Given the description of an element on the screen output the (x, y) to click on. 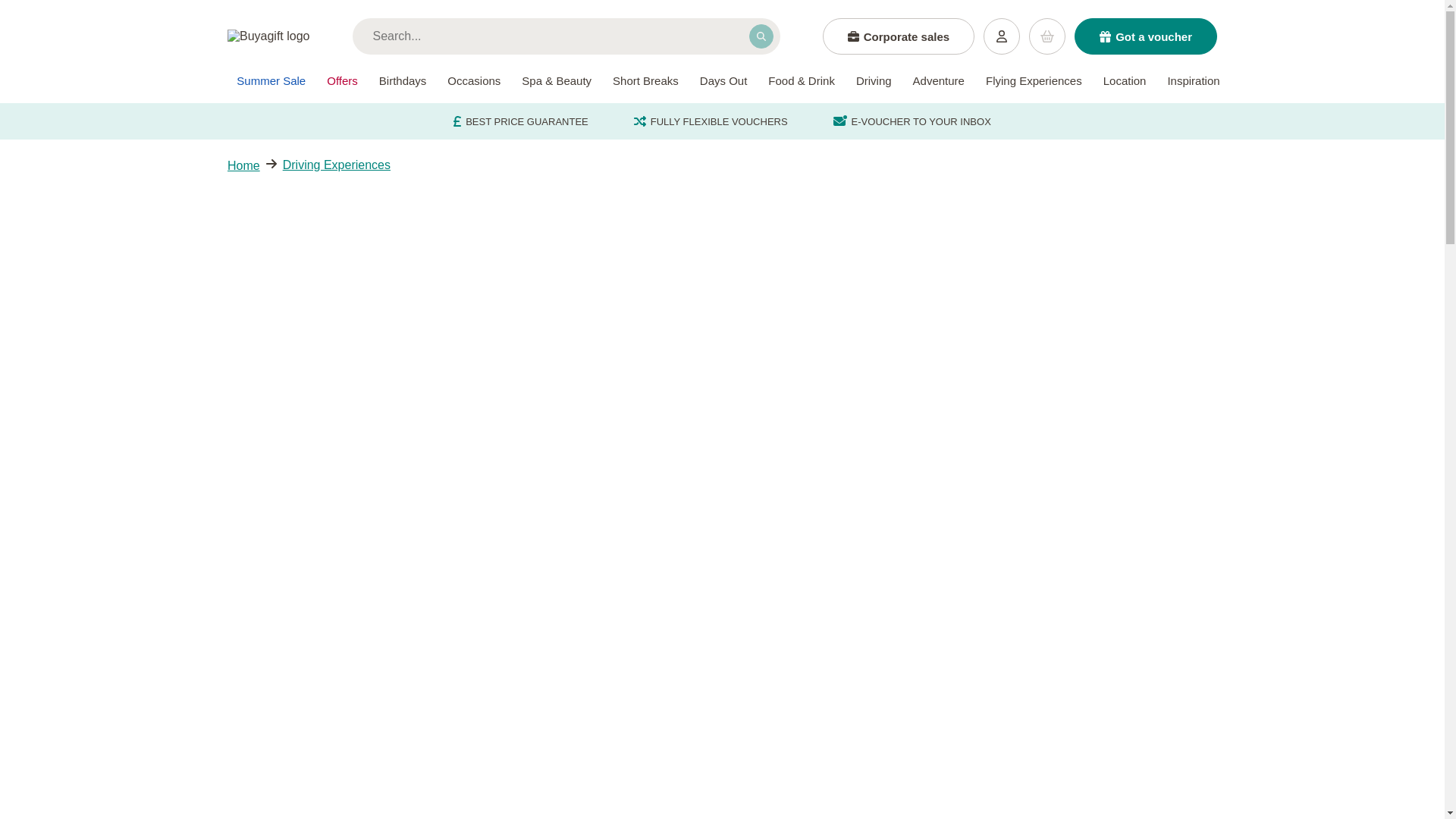
Offers (342, 80)
search (761, 36)
profile (1002, 36)
Basket (1047, 36)
Corporate sales (898, 36)
Got a voucher (1145, 36)
Birthdays (402, 80)
Summer Sale (270, 81)
